Given the description of an element on the screen output the (x, y) to click on. 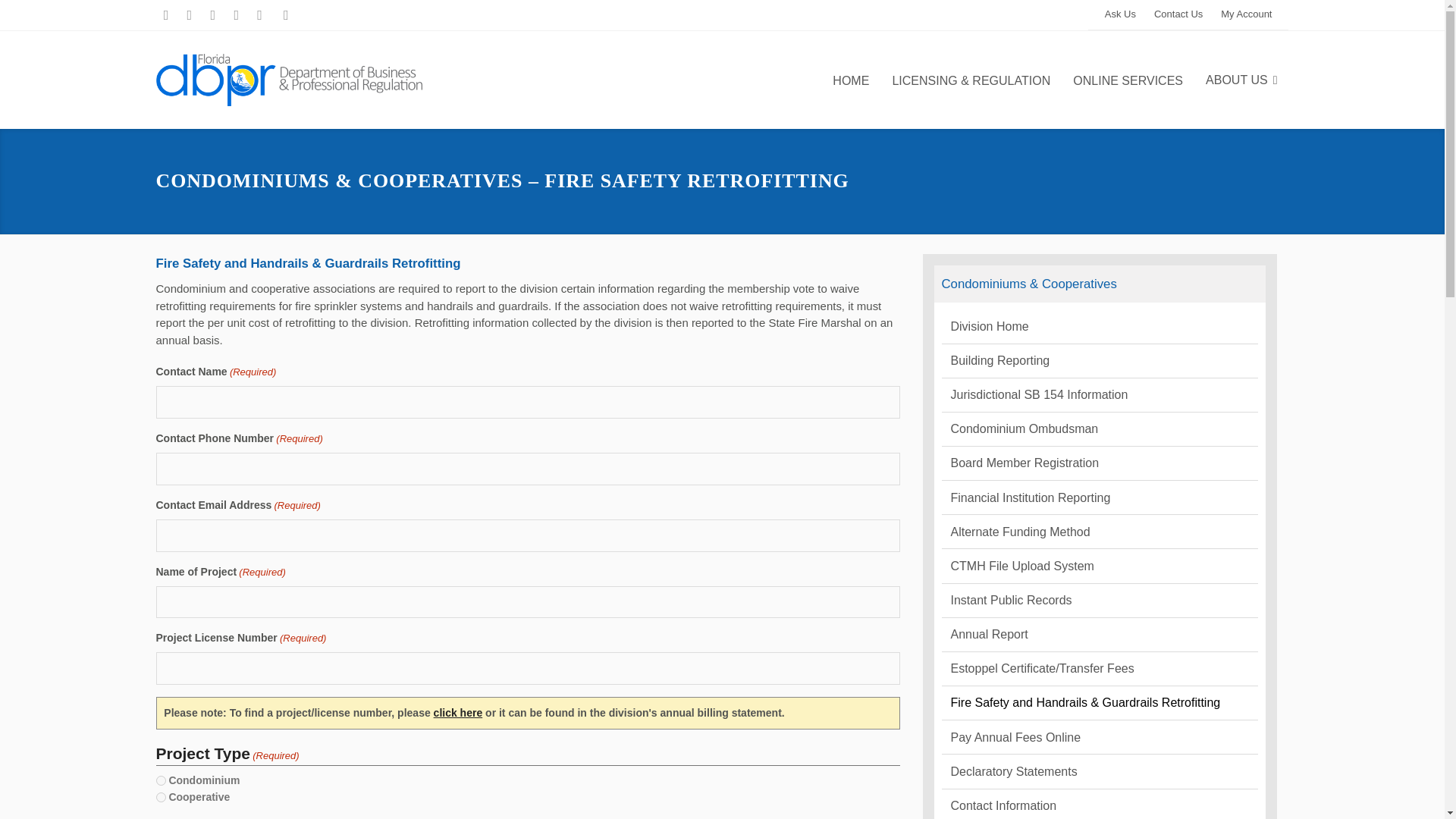
Connect On LinkedIn (1187, 15)
Connect On Twitter (189, 14)
Cooperative (165, 14)
Ask Us (160, 797)
Ask Us (1120, 14)
Contact Us (1120, 14)
Connect On YouTube (1177, 14)
My Account (258, 14)
My Account (1246, 14)
Connect On Instagram (1246, 14)
Condominium (235, 14)
ONLINE SERVICES (160, 780)
Connect On Facebook (1127, 79)
DBPR News Room (212, 14)
